Given the description of an element on the screen output the (x, y) to click on. 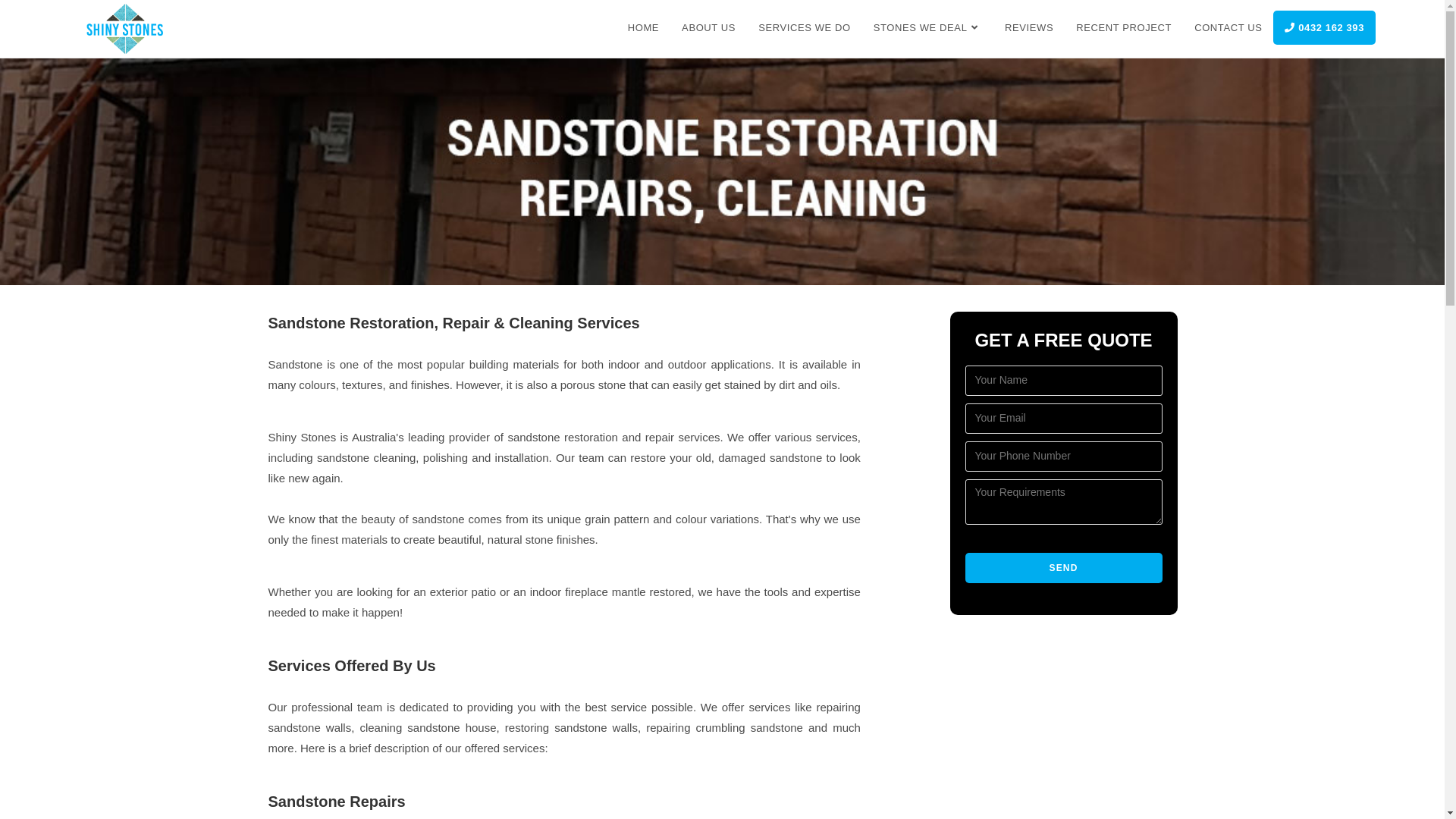
REVIEWS Element type: text (1028, 28)
SERVICES WE DO Element type: text (804, 28)
CONTACT US Element type: text (1228, 28)
STONES WE DEAL Element type: text (927, 28)
Send Element type: text (1062, 567)
ABOUT US Element type: text (708, 28)
HOME Element type: text (643, 28)
0432 162 393 Element type: text (1324, 27)
RECENT PROJECT Element type: text (1123, 28)
